Given the description of an element on the screen output the (x, y) to click on. 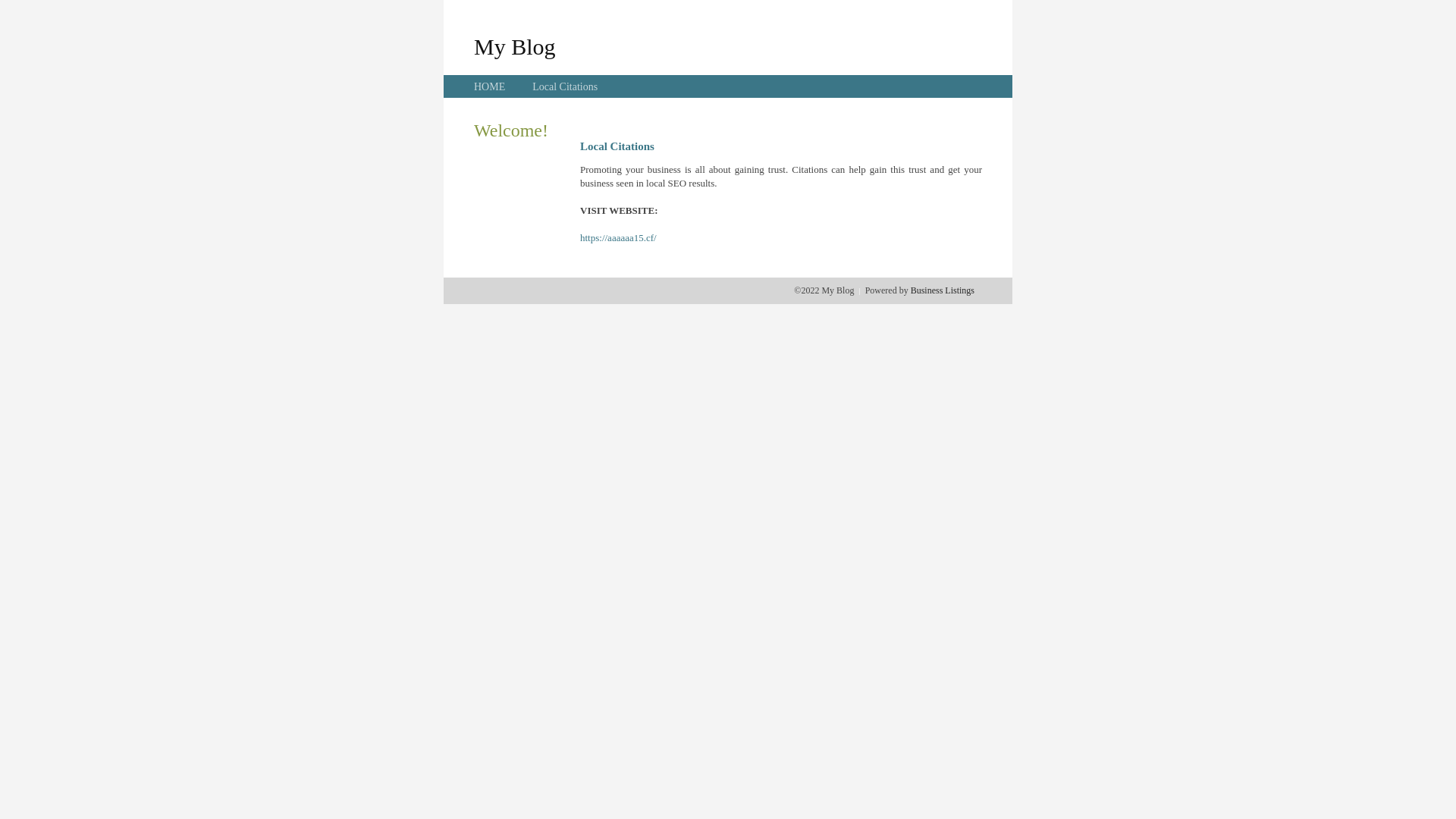
https://aaaaaa15.cf/ Element type: text (618, 237)
My Blog Element type: text (514, 46)
Business Listings Element type: text (942, 290)
HOME Element type: text (489, 86)
Local Citations Element type: text (564, 86)
